Given the description of an element on the screen output the (x, y) to click on. 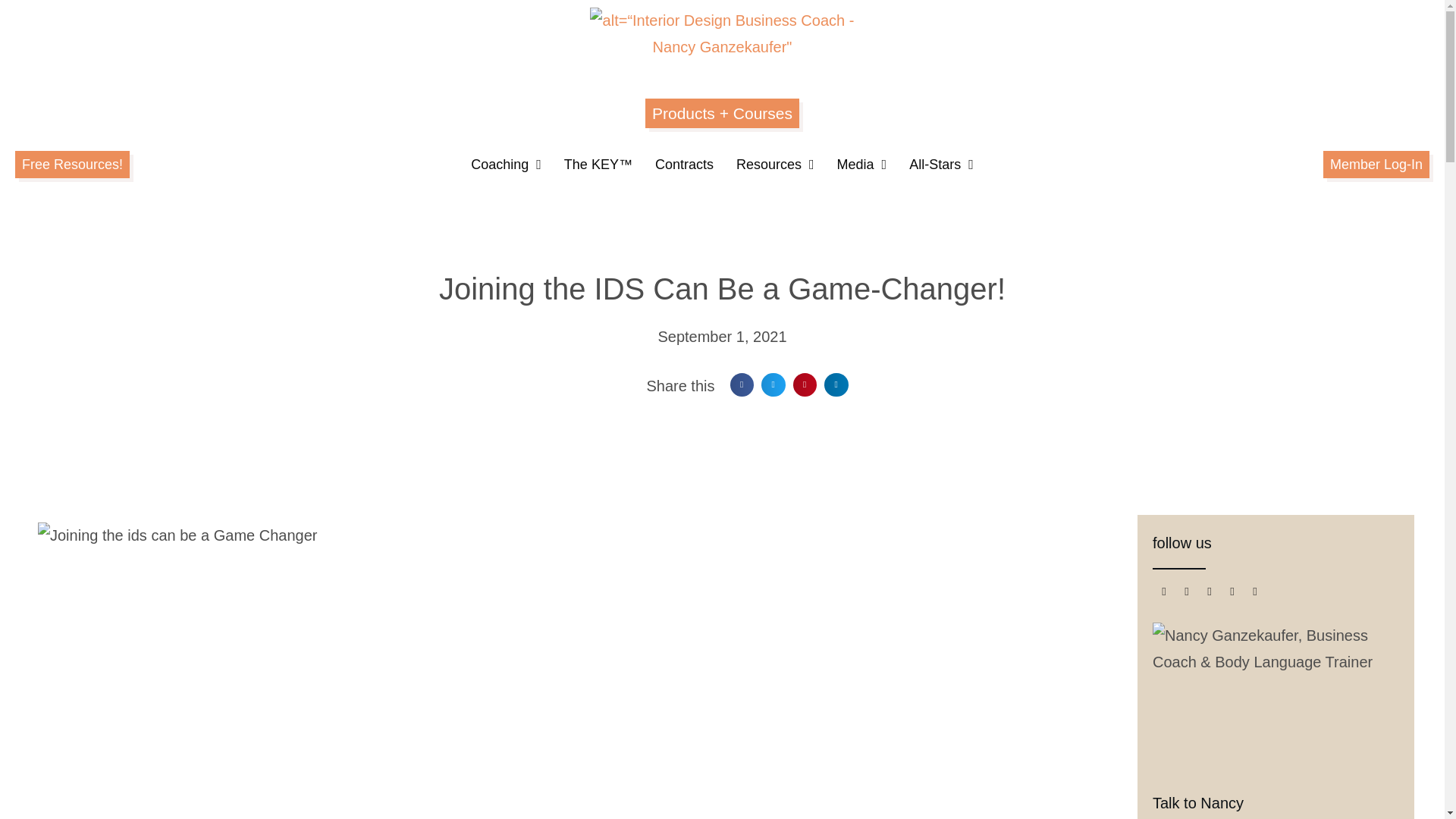
Contracts (683, 164)
Coaching (505, 164)
Media (862, 164)
All-Stars (941, 164)
Resources (775, 164)
